Given the description of an element on the screen output the (x, y) to click on. 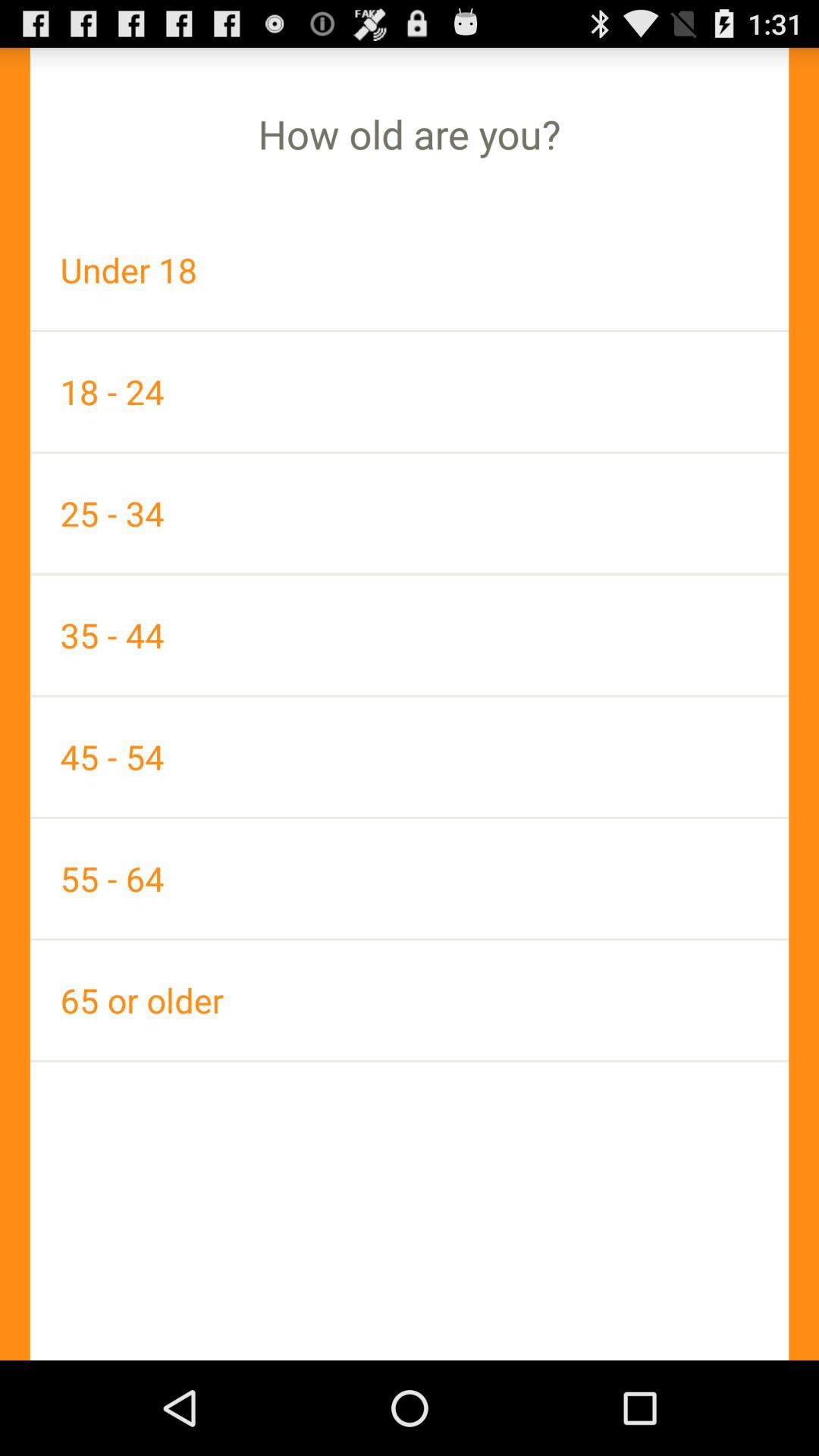
flip to under 18 app (409, 269)
